Given the description of an element on the screen output the (x, y) to click on. 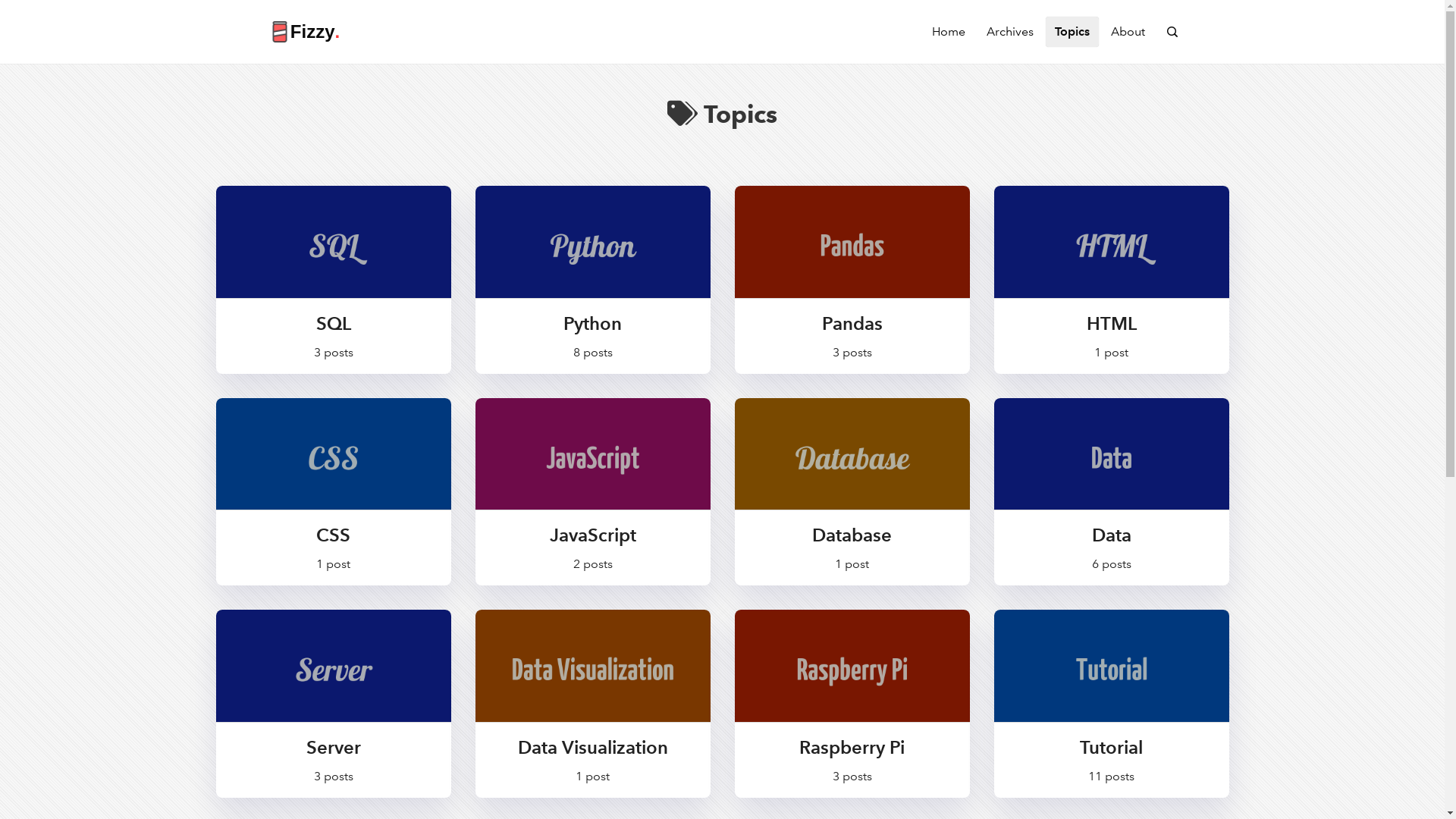
Fizzy
. Element type: text (302, 31)
Archives Element type: text (1009, 31)
Tutorial
11 posts Element type: text (1110, 703)
CSS
1 post Element type: text (332, 492)
HTML
1 post Element type: text (1110, 279)
JavaScript
2 posts Element type: text (591, 492)
Python
8 posts Element type: text (591, 279)
Data Visualization
1 post Element type: text (591, 703)
Data
6 posts Element type: text (1110, 492)
Database
1 post Element type: text (851, 492)
SQL
3 posts Element type: text (332, 279)
Pandas
3 posts Element type: text (851, 279)
Server
3 posts Element type: text (332, 703)
Raspberry Pi
3 posts Element type: text (851, 703)
Topics Element type: text (1071, 31)
About Element type: text (1127, 31)
Home Element type: text (948, 31)
